Given the description of an element on the screen output the (x, y) to click on. 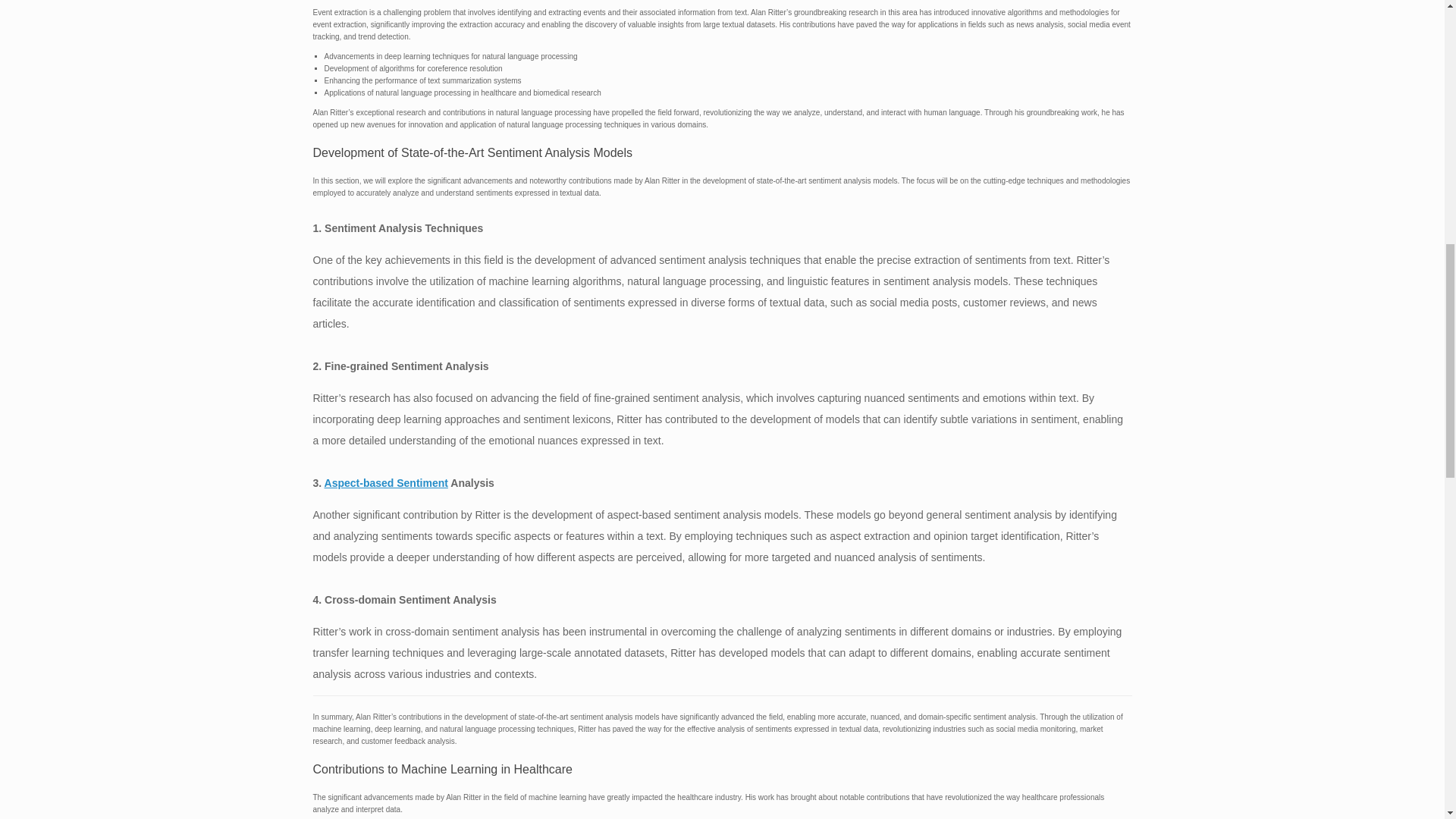
Aspect-based Sentiment (386, 482)
